Given the description of an element on the screen output the (x, y) to click on. 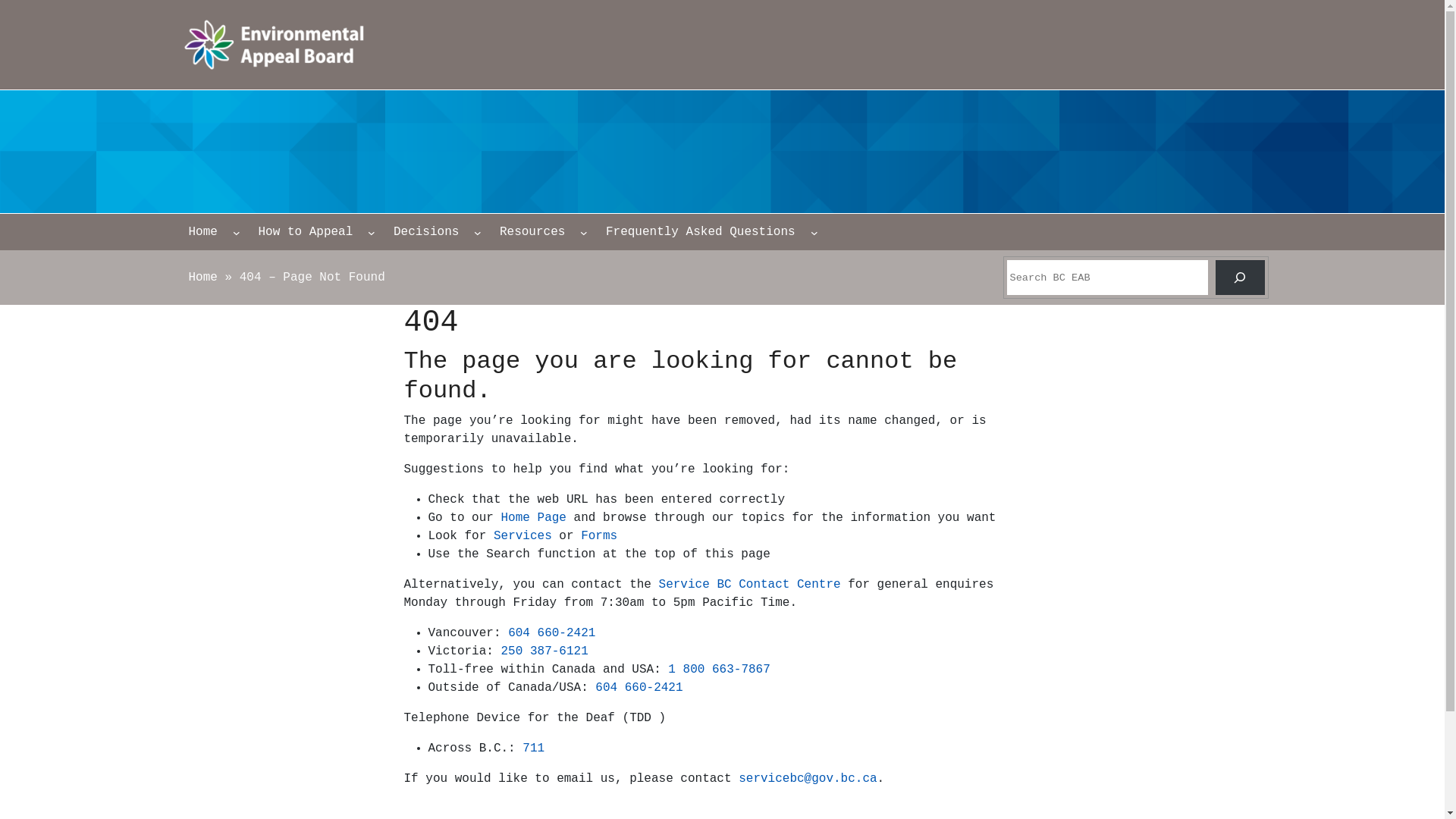
Decisions Element type: text (425, 231)
604 660-2421 Element type: text (551, 633)
1 800 663-7867 Element type: text (718, 669)
Resources Element type: text (532, 231)
Forms Element type: text (598, 535)
servicebc@gov.bc.ca Element type: text (807, 778)
Frequently Asked Questions Element type: text (700, 231)
Home Element type: text (202, 277)
Services Element type: text (522, 535)
711 Element type: text (533, 748)
Service BC Contact Centre Element type: text (749, 584)
250 387-6121 Element type: text (544, 651)
Home Page Element type: text (533, 517)
Home Element type: text (202, 231)
How to Appeal Element type: text (304, 231)
604 660-2421 Element type: text (638, 687)
